Given the description of an element on the screen output the (x, y) to click on. 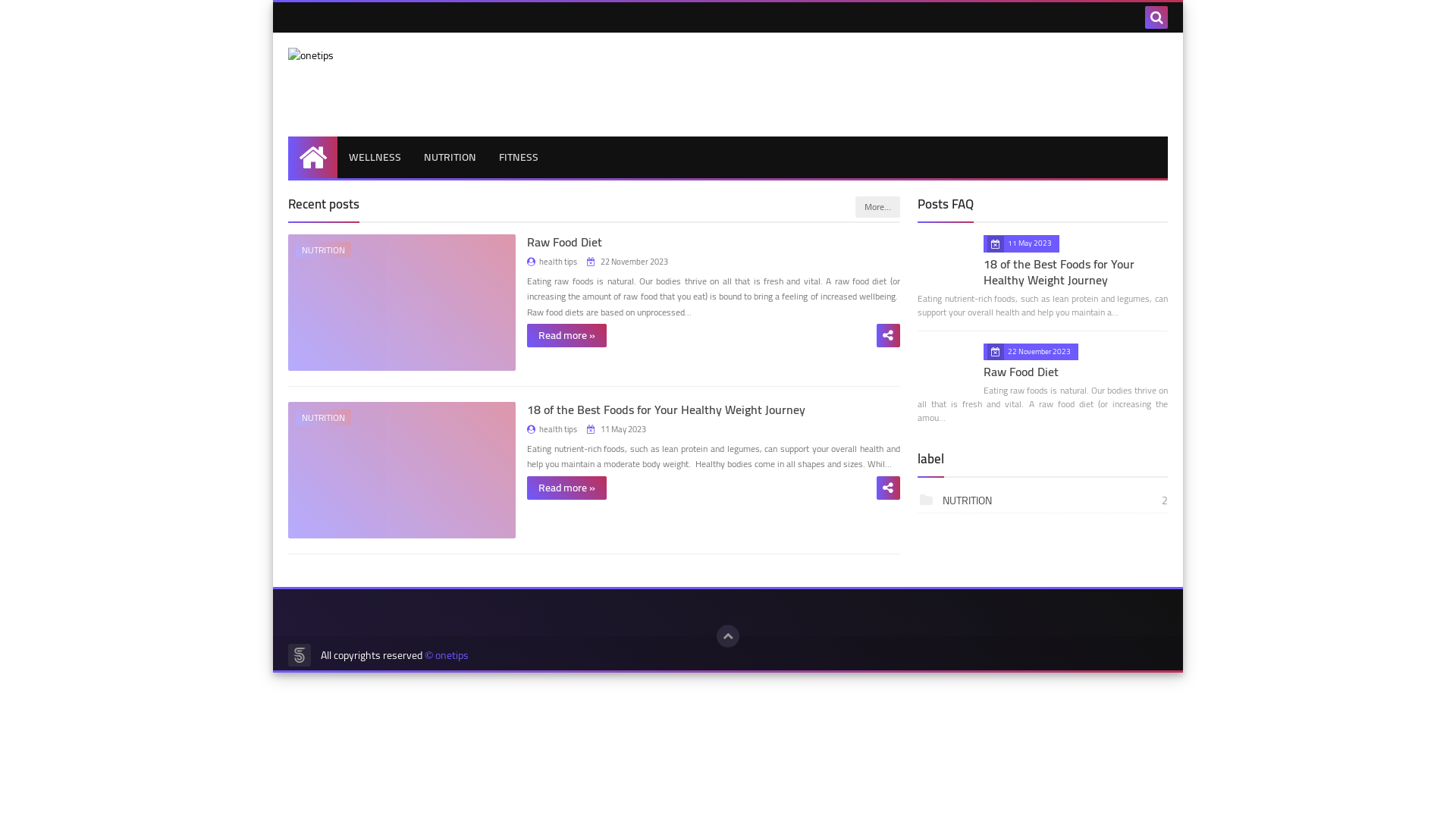
WELLNESS Element type: text (374, 157)
health tips Element type: text (552, 428)
18 of the Best Foods for Your Healthy Weight Journey Element type: text (1058, 270)
11 May 2023 Element type: text (616, 429)
NUTRITION Element type: text (401, 469)
22 November 2023 Element type: text (627, 261)
Raw Food Diet Element type: text (1020, 371)
Raw Food Diet Element type: text (564, 241)
health tips Element type: text (552, 261)
onetips Element type: hover (398, 55)
NUTRITION
2 Element type: text (1042, 501)
onetips Element type: text (451, 655)
NUTRITION Element type: text (401, 302)
18 of the Best Foods for Your Healthy Weight Journey Element type: text (666, 409)
Advertisement Element type: hover (891, 81)
FITNESS Element type: text (518, 157)
NUTRITION Element type: text (449, 157)
